Given the description of an element on the screen output the (x, y) to click on. 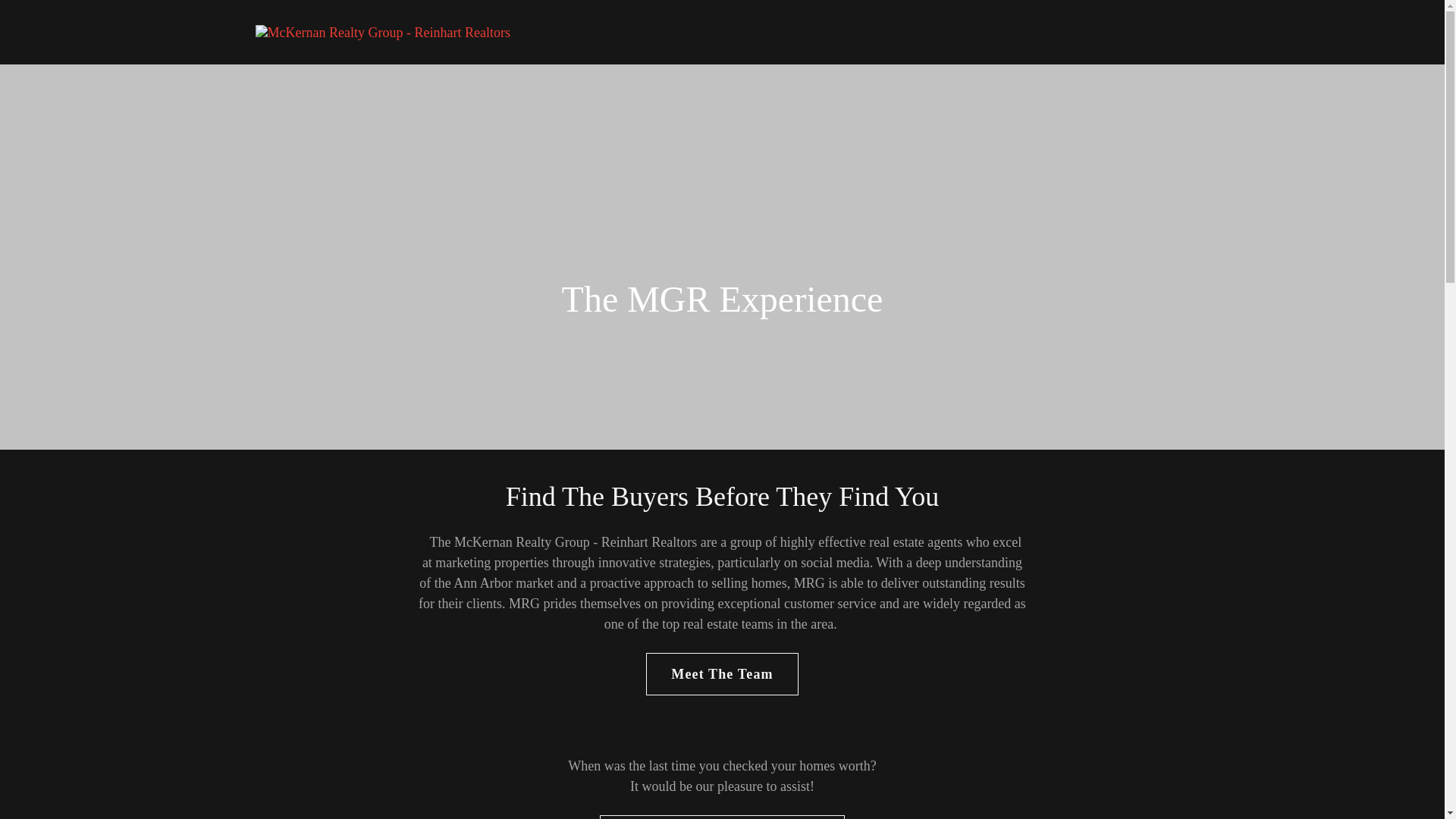
McKernan Realty Group - Reinhart Realtors (381, 30)
